Given the description of an element on the screen output the (x, y) to click on. 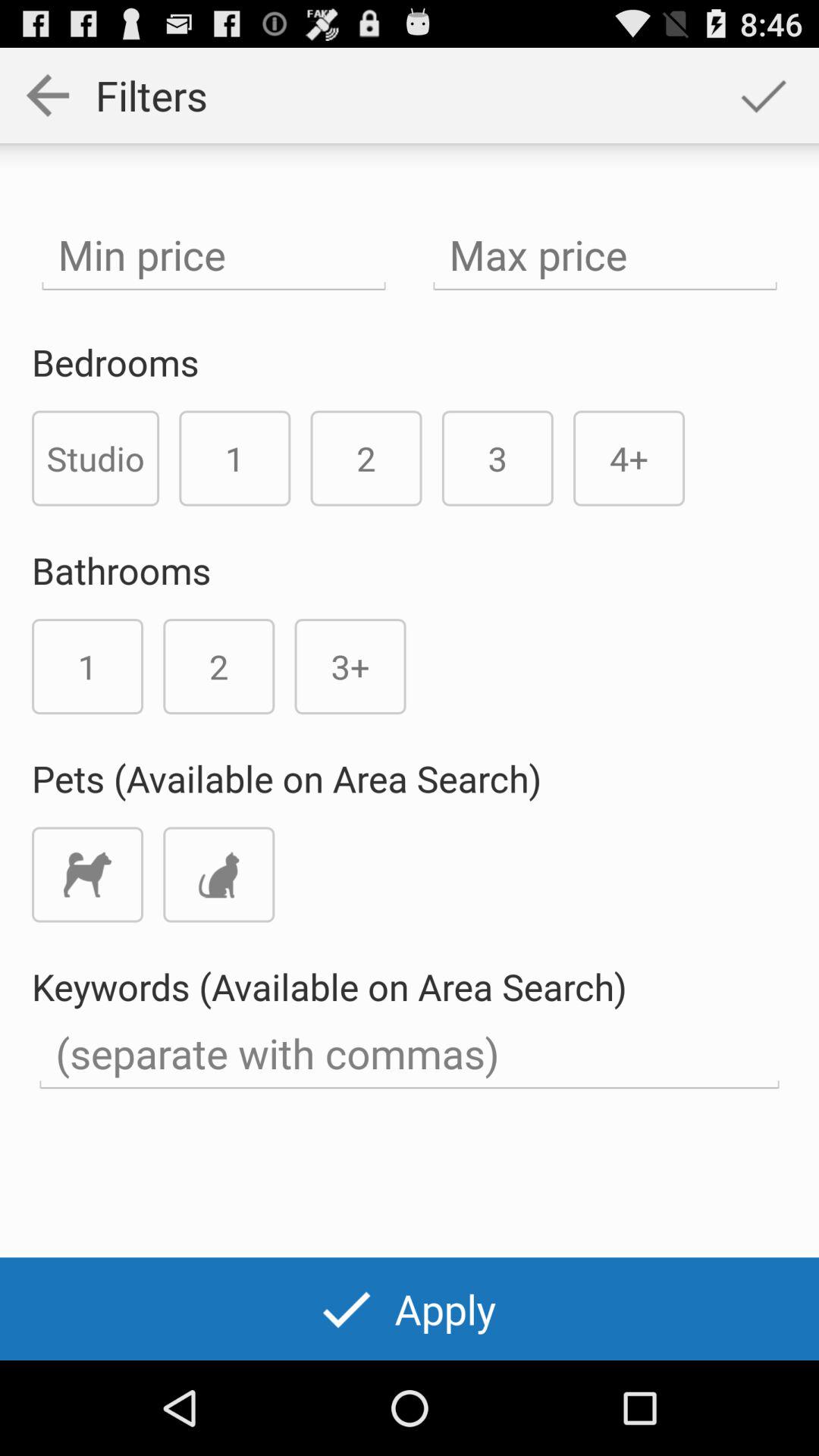
launch app below the pets available on app (87, 874)
